Given the description of an element on the screen output the (x, y) to click on. 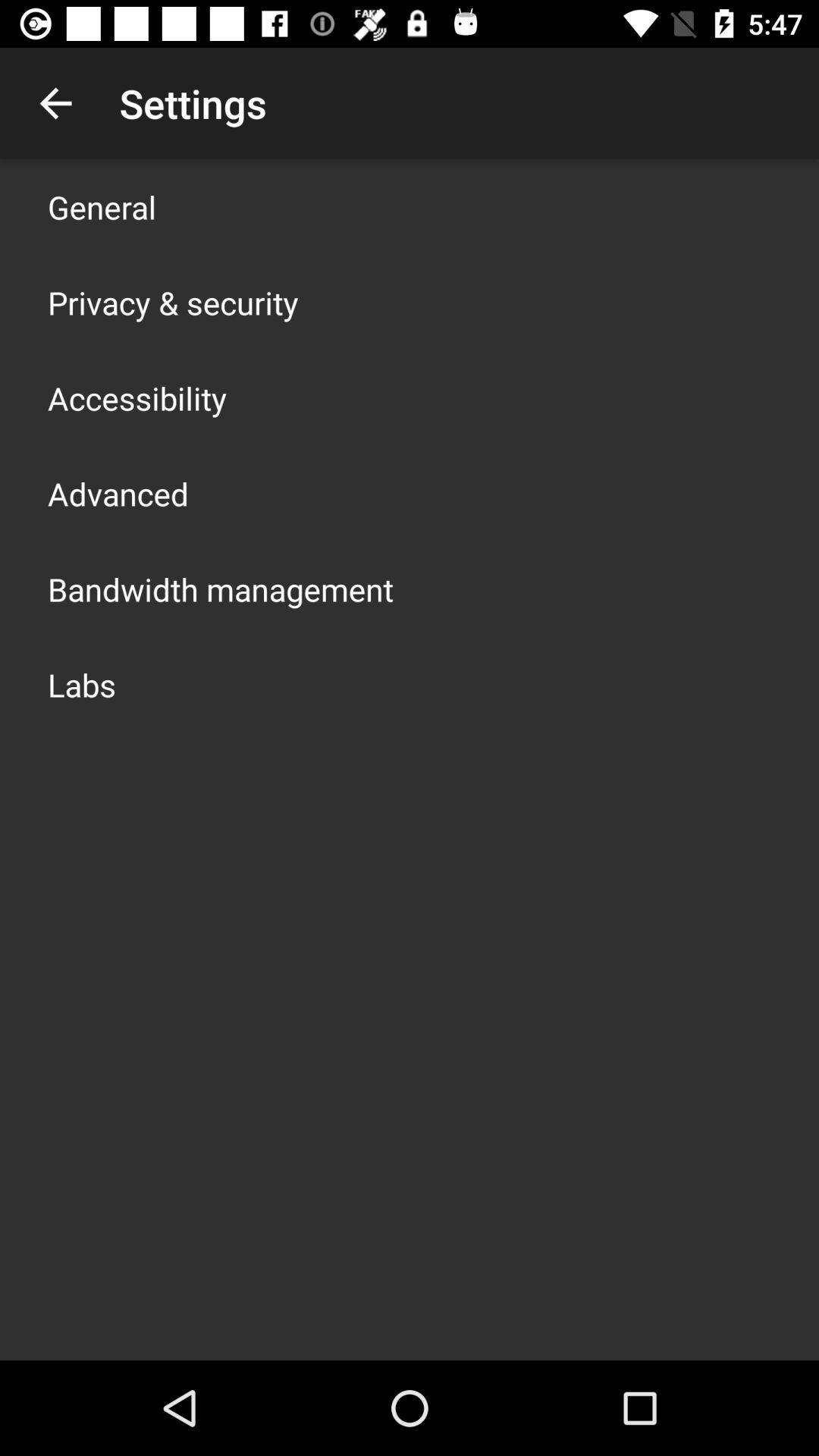
turn on item below advanced app (220, 588)
